Given the description of an element on the screen output the (x, y) to click on. 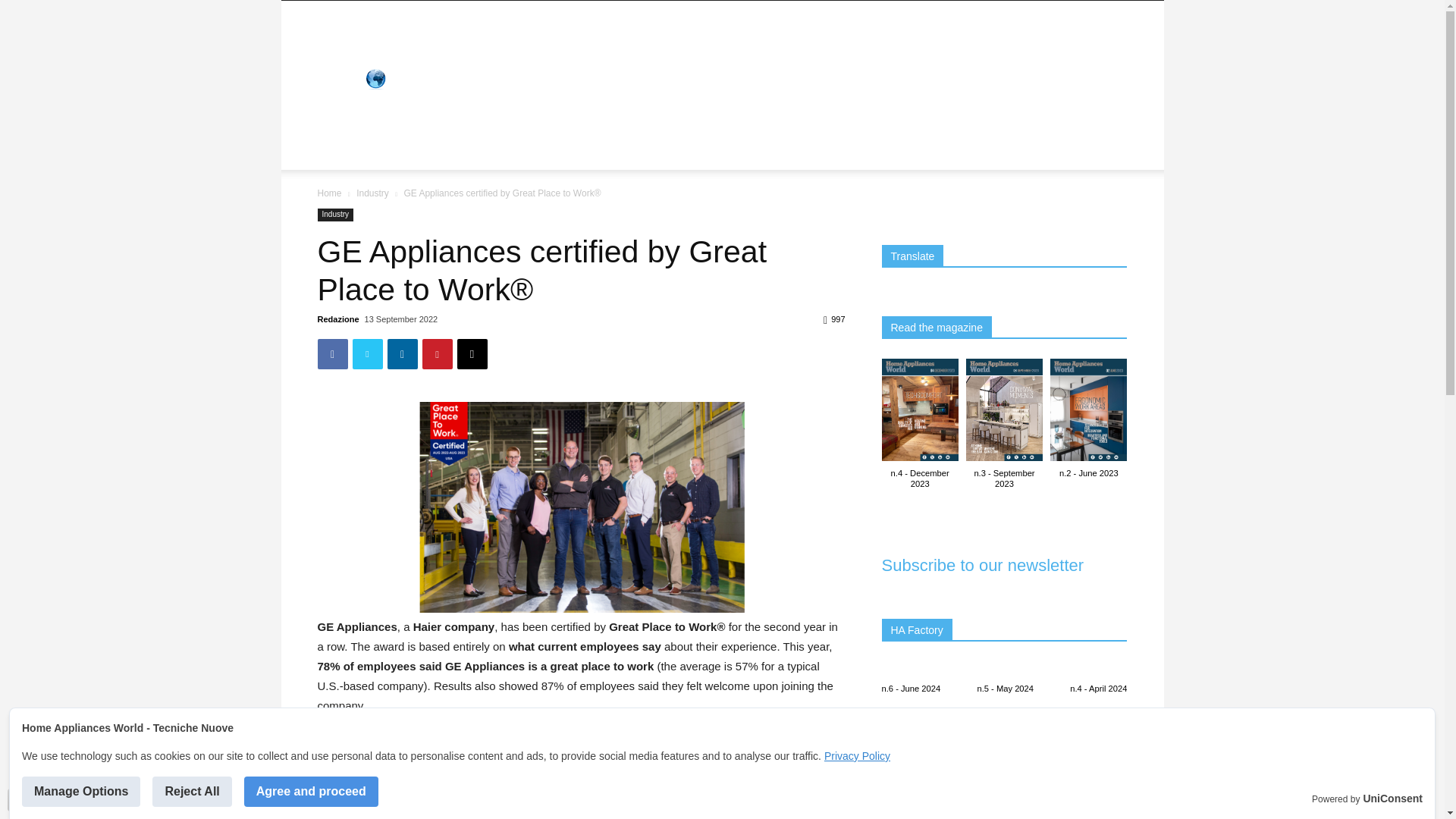
Industry (372, 193)
Redazione (337, 318)
Agree and proceed (311, 791)
Home (328, 193)
Posts by Redazione (337, 318)
Manage Options (80, 791)
Search (1085, 175)
INTERIOR DECOR (651, 115)
UniConsent Consent Manager (1392, 798)
WEB TV (347, 151)
View all posts in Industry (372, 193)
Reject All (191, 791)
DESIGN (347, 115)
Privacy Policy (856, 756)
